Given the description of an element on the screen output the (x, y) to click on. 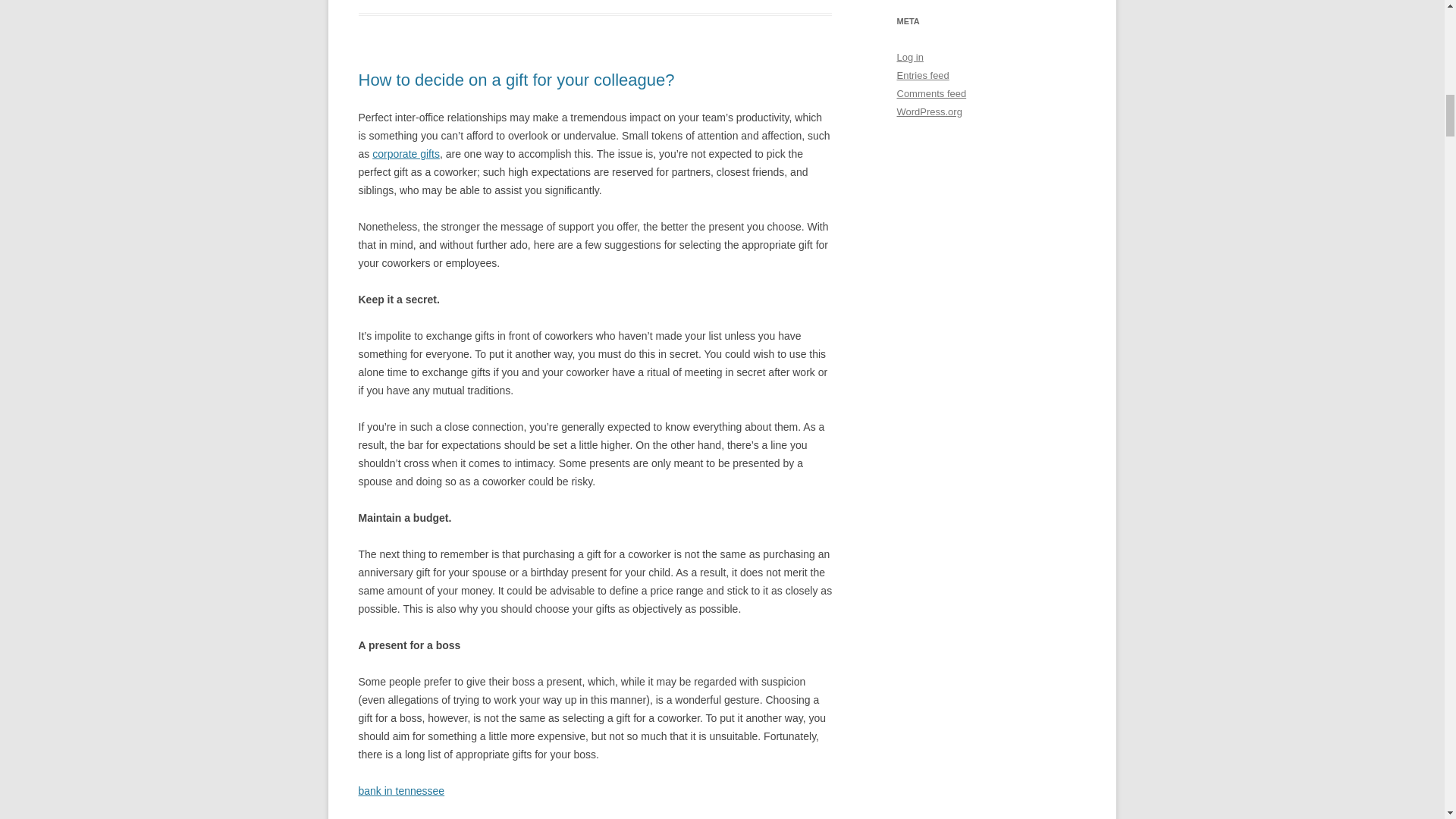
corporate gifts (405, 153)
How to decide on a gift for your colleague? (516, 79)
bank in tennessee (401, 790)
